Given the description of an element on the screen output the (x, y) to click on. 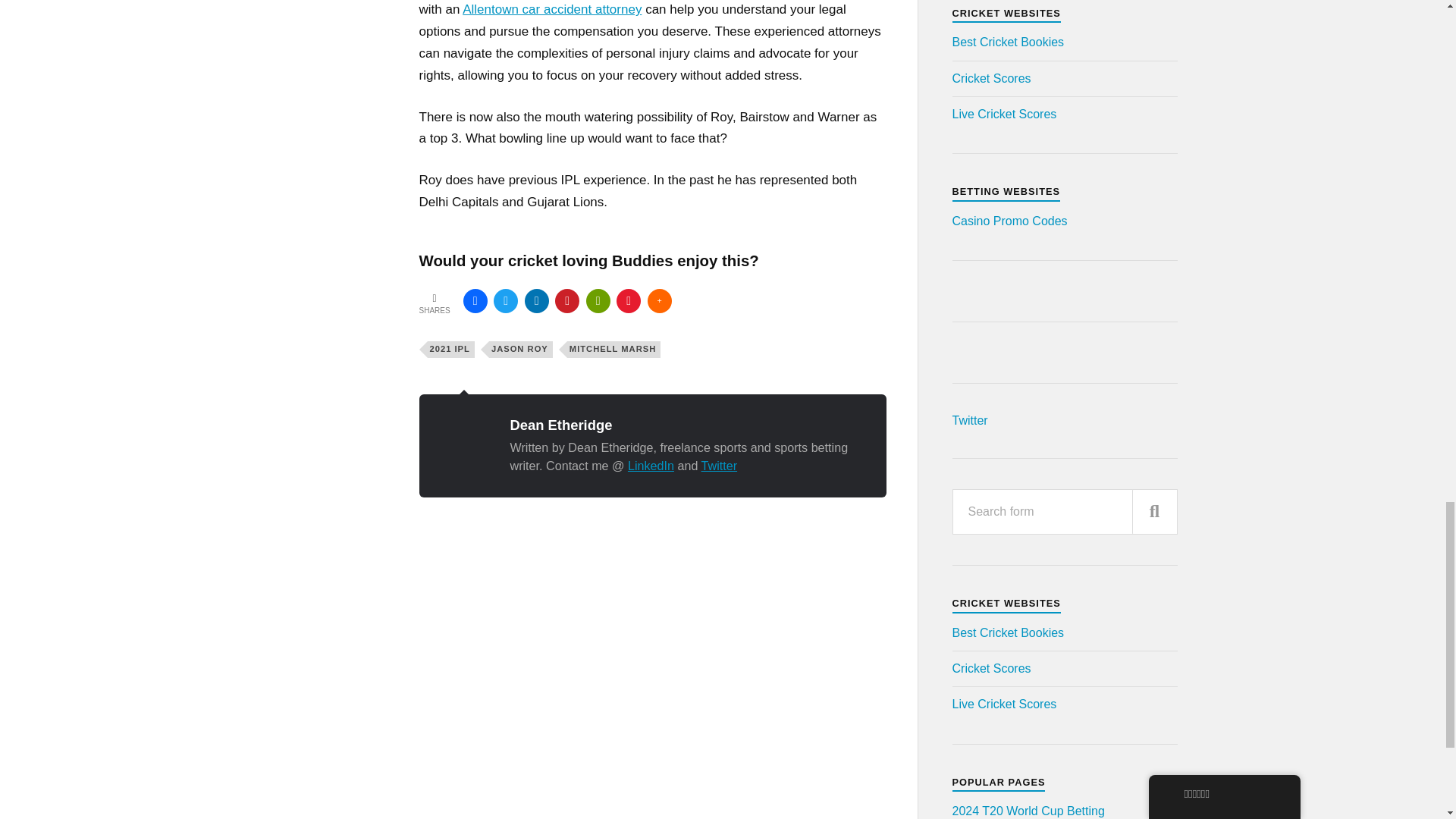
Print this article  (598, 300)
Submit this to Pinterest (566, 300)
Share this on Facebook (475, 300)
Add this to LinkedIn (536, 300)
More share links (659, 300)
Betting Guide to 2024 T20 World Cup (1028, 810)
Find The Top Paying Casino Welcome Bonuses  (1009, 220)
Convert to PDF (627, 300)
Tweet this ! (505, 300)
